Given the description of an element on the screen output the (x, y) to click on. 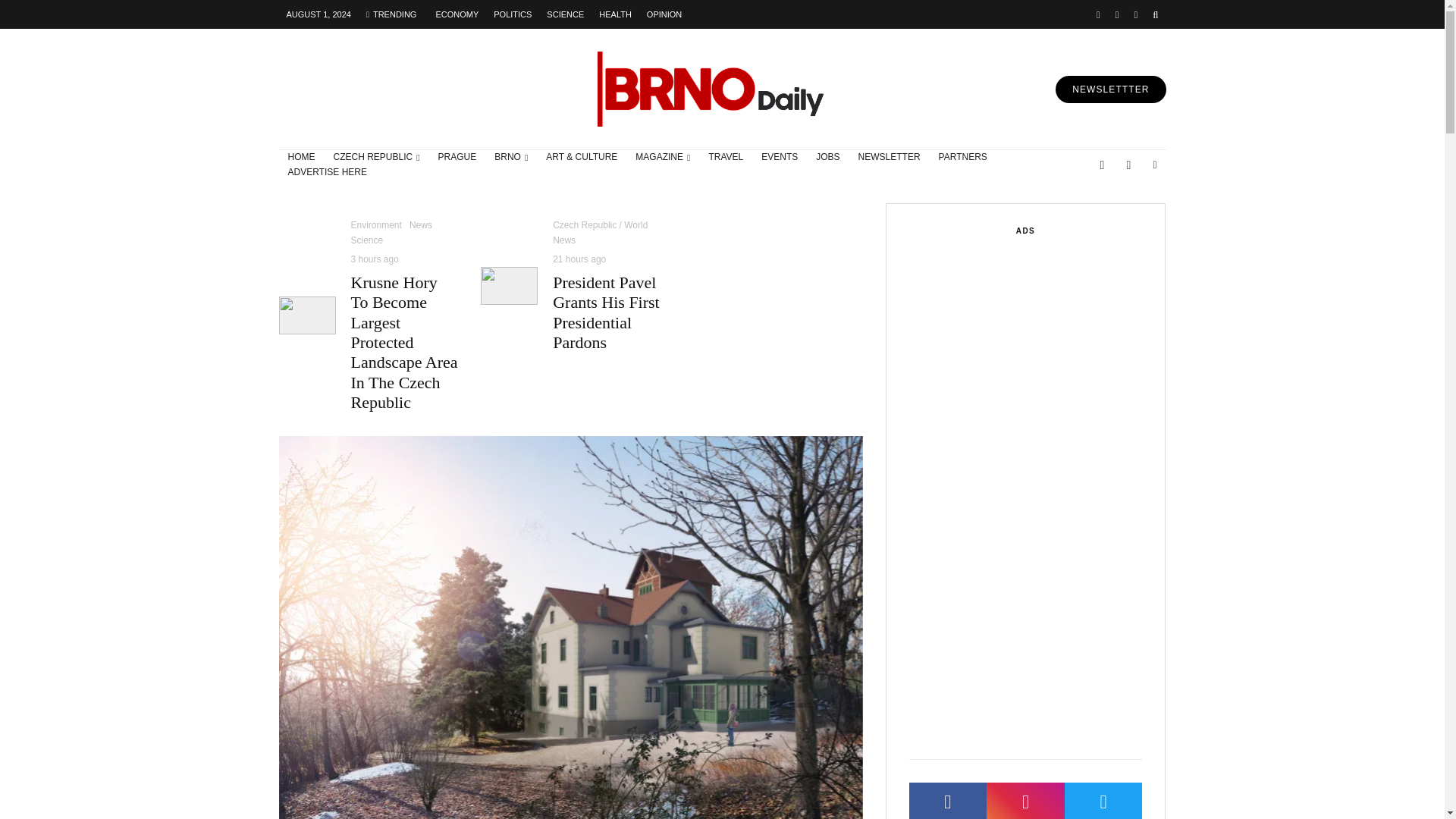
HEALTH (615, 14)
TRENDING (390, 14)
ECONOMY (457, 14)
POLITICS (512, 14)
OPINION (663, 14)
SCIENCE (564, 14)
HOME (301, 157)
CZECH REPUBLIC (376, 157)
NEWSLETTTER (1110, 89)
PRAGUE (457, 157)
